Given the description of an element on the screen output the (x, y) to click on. 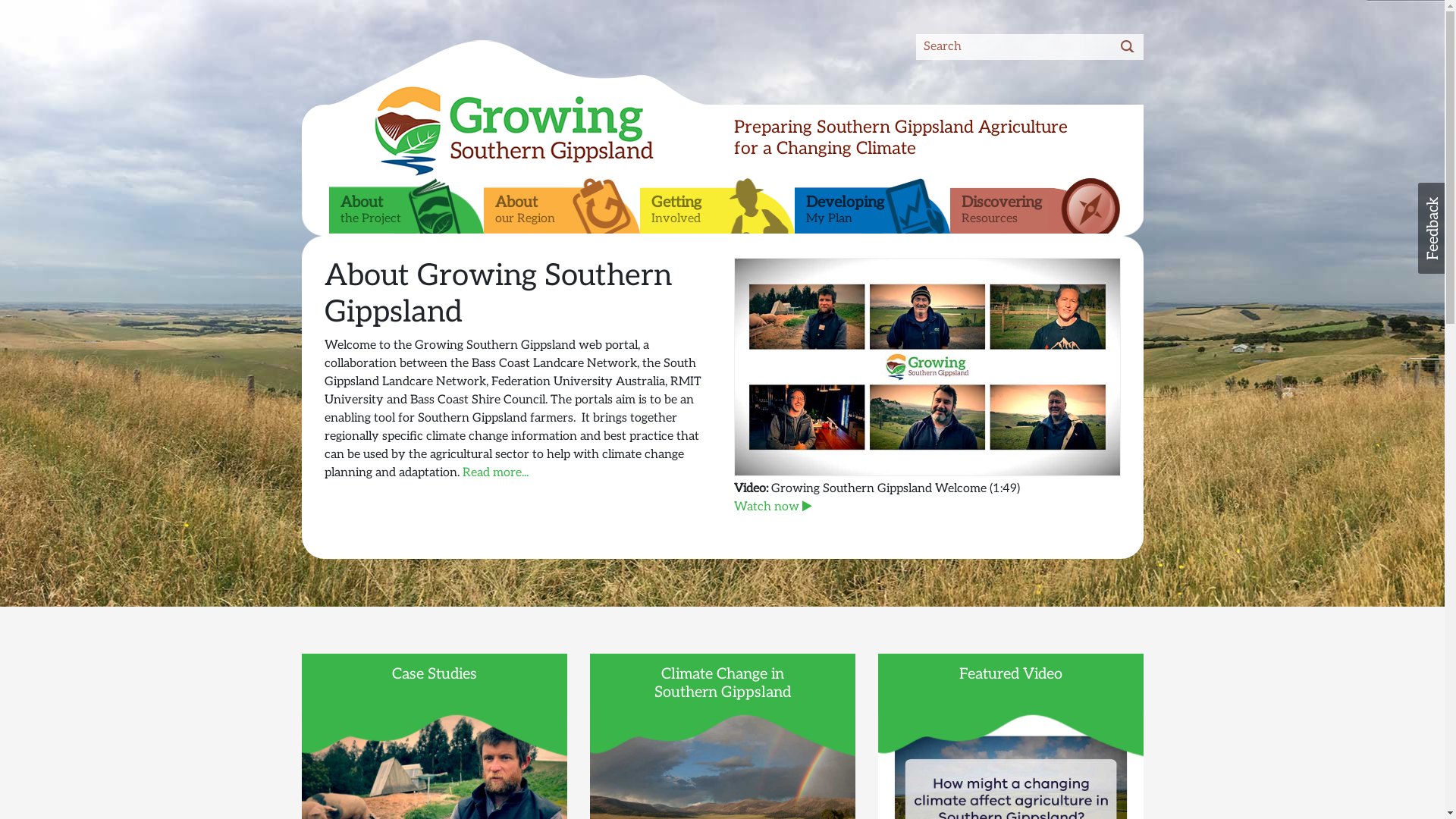
Watch now   Element type: text (774, 506)
Discovering
Resources Element type: text (1034, 203)
About
the Project Element type: text (406, 203)
Getting
Involved Element type: text (717, 203)
Developing
My Plan Element type: text (872, 203)
Growing Southern Gippsland Element type: hover (477, 130)
About
our Region Element type: text (561, 203)
Read more... Element type: text (495, 472)
